Given the description of an element on the screen output the (x, y) to click on. 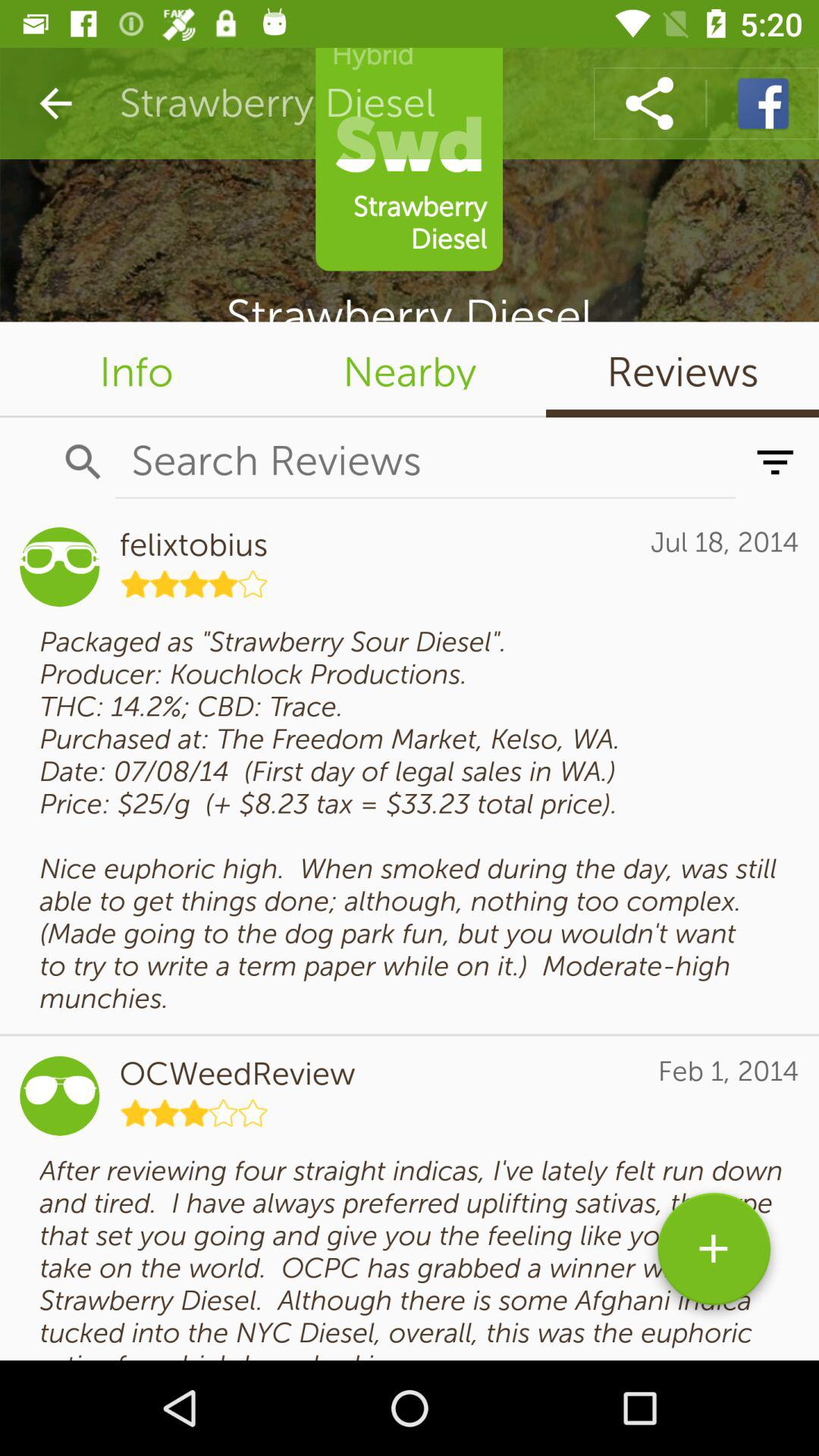
click the button below the tab reviews on the web page (775, 462)
click on the search icon (83, 462)
click on the star below felixtobius (194, 583)
click the share button on the web page (649, 103)
